Given the description of an element on the screen output the (x, y) to click on. 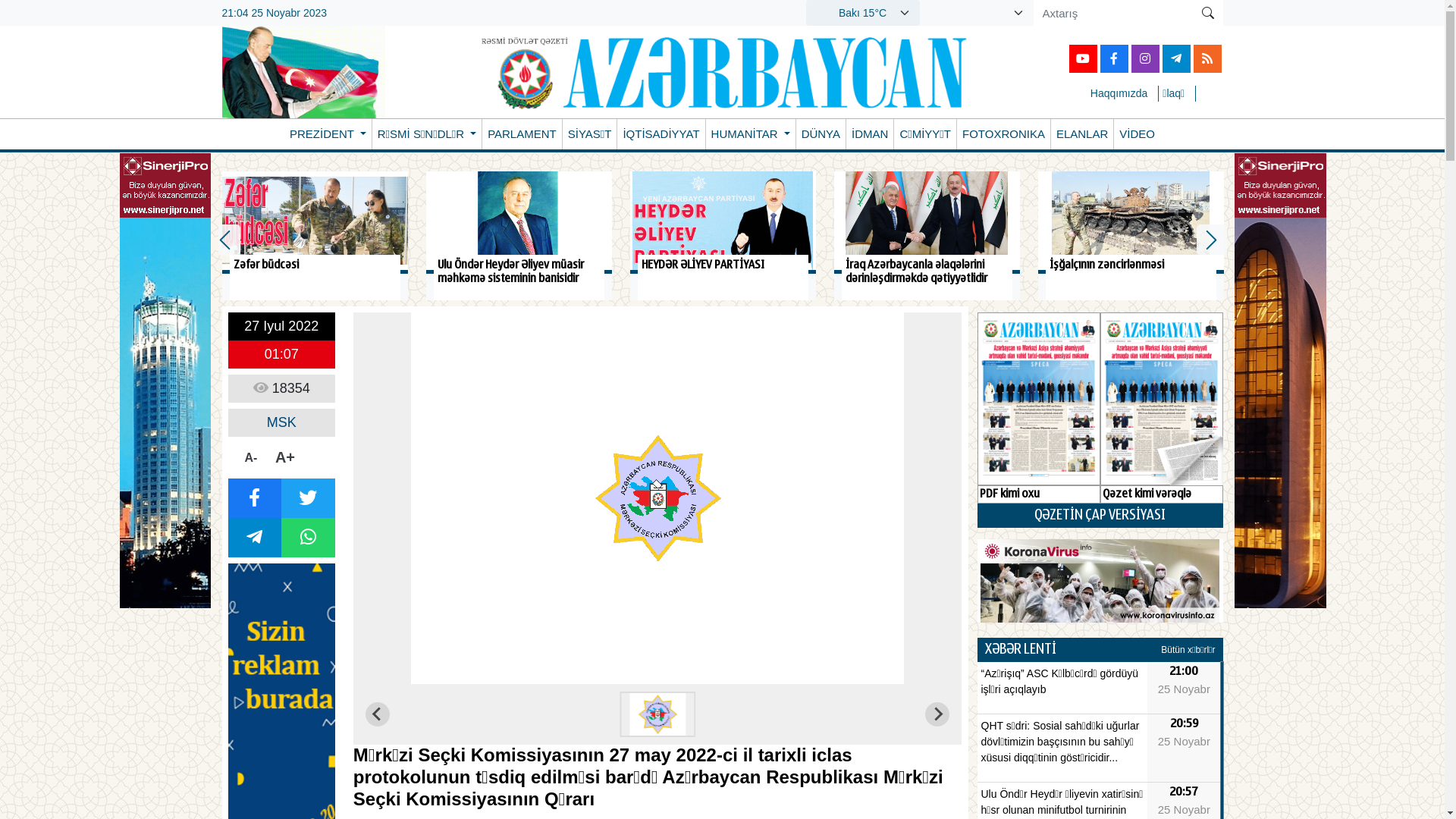
FOTOXRONIKA Element type: text (1003, 134)
PARLAMENT Element type: text (521, 134)
ELANLAR Element type: text (1082, 134)
A+ Element type: text (284, 457)
HUMANITAR Element type: text (750, 134)
A- Element type: text (250, 457)
PDF kimi oxu Element type: text (1037, 407)
PREZIDENT Element type: text (327, 134)
